Given the description of an element on the screen output the (x, y) to click on. 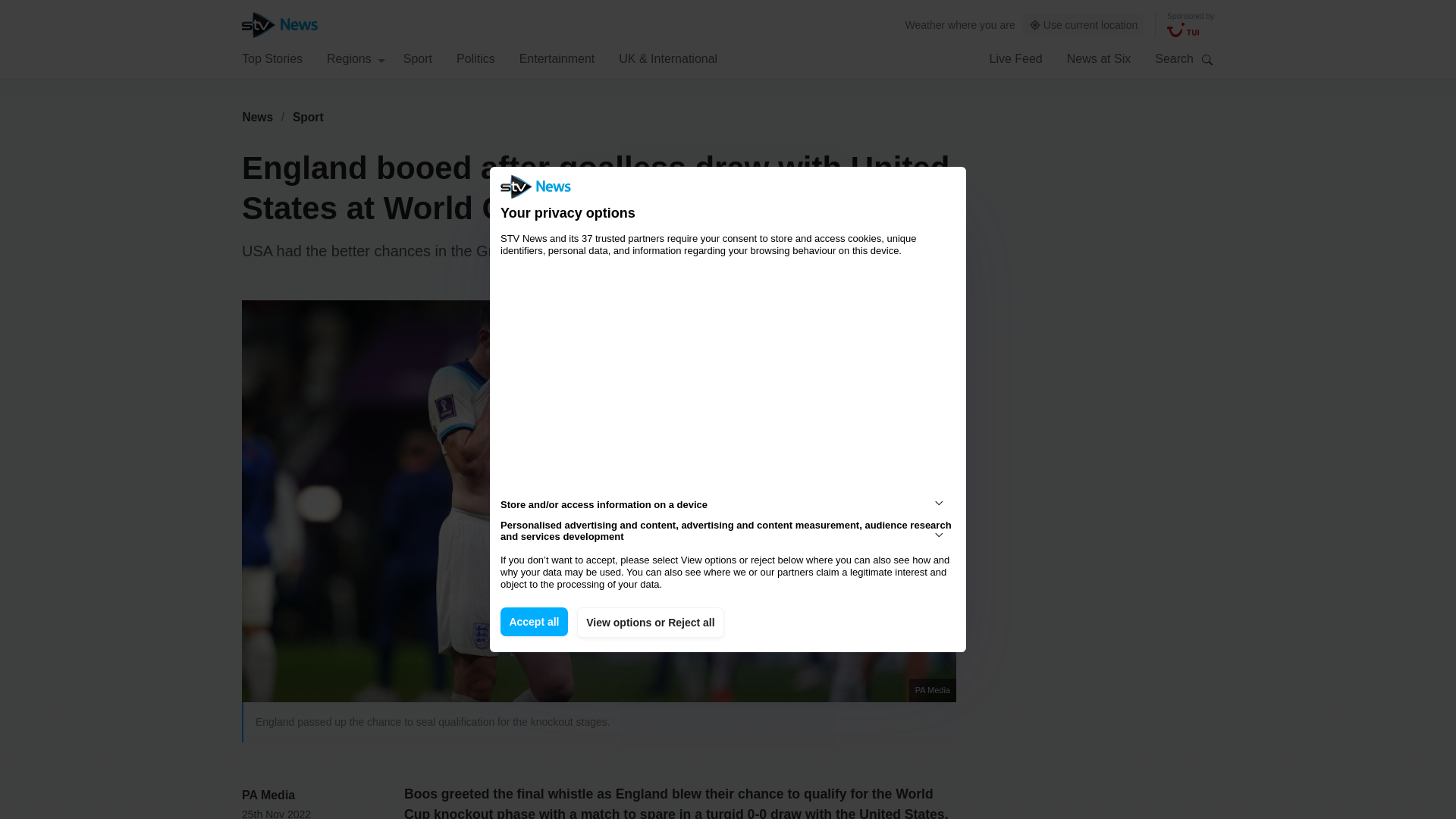
Weather (924, 24)
Entertainment (557, 57)
Live Feed (1015, 57)
News at Six (1099, 57)
Regions (355, 57)
Play Video (606, 507)
Politics (476, 57)
Use current location (1083, 25)
Top Stories (271, 57)
News (257, 116)
Sport (308, 116)
Search (1206, 59)
